Given the description of an element on the screen output the (x, y) to click on. 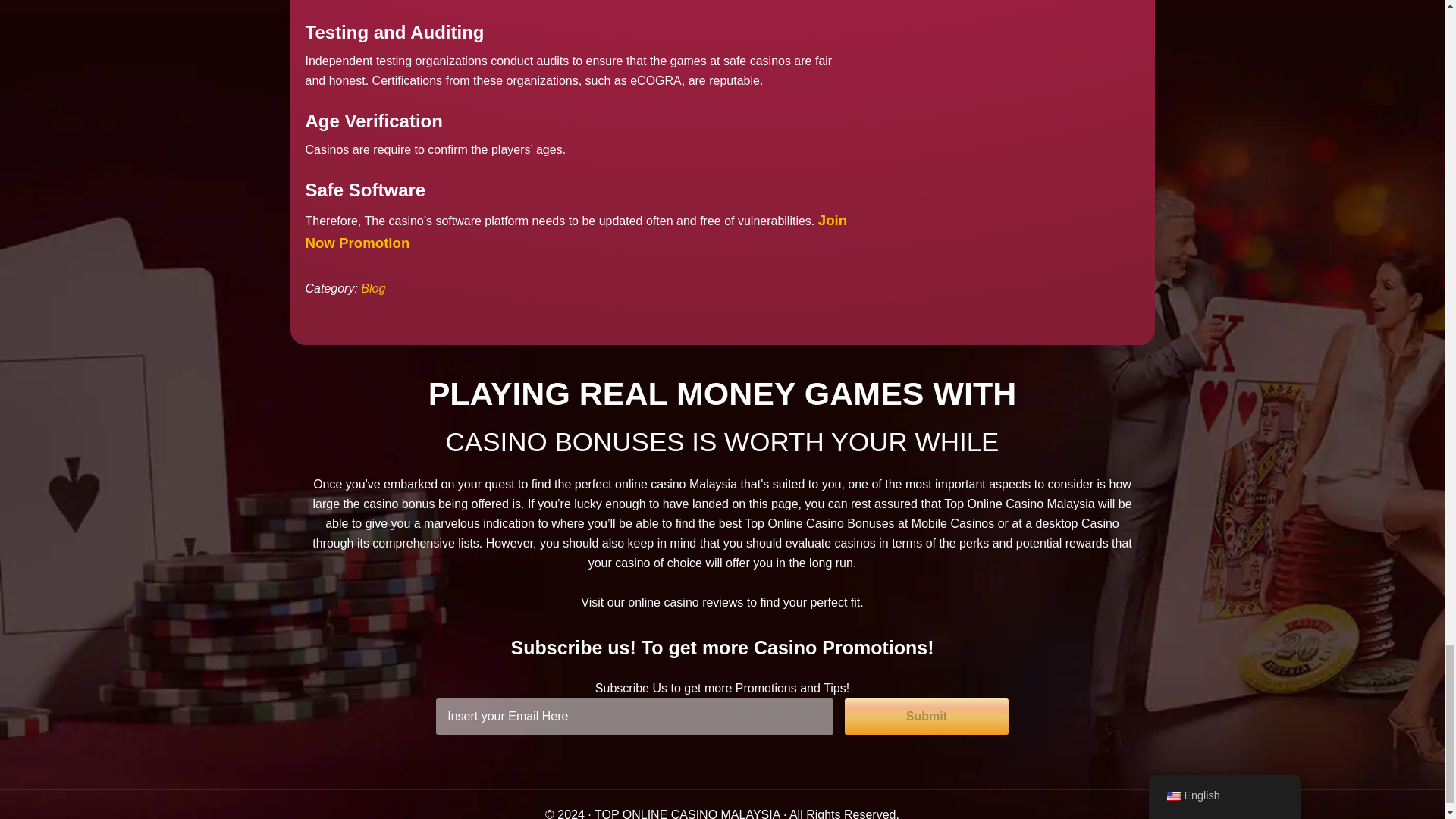
Insert your Email Here (633, 716)
Submit (926, 716)
